Given the description of an element on the screen output the (x, y) to click on. 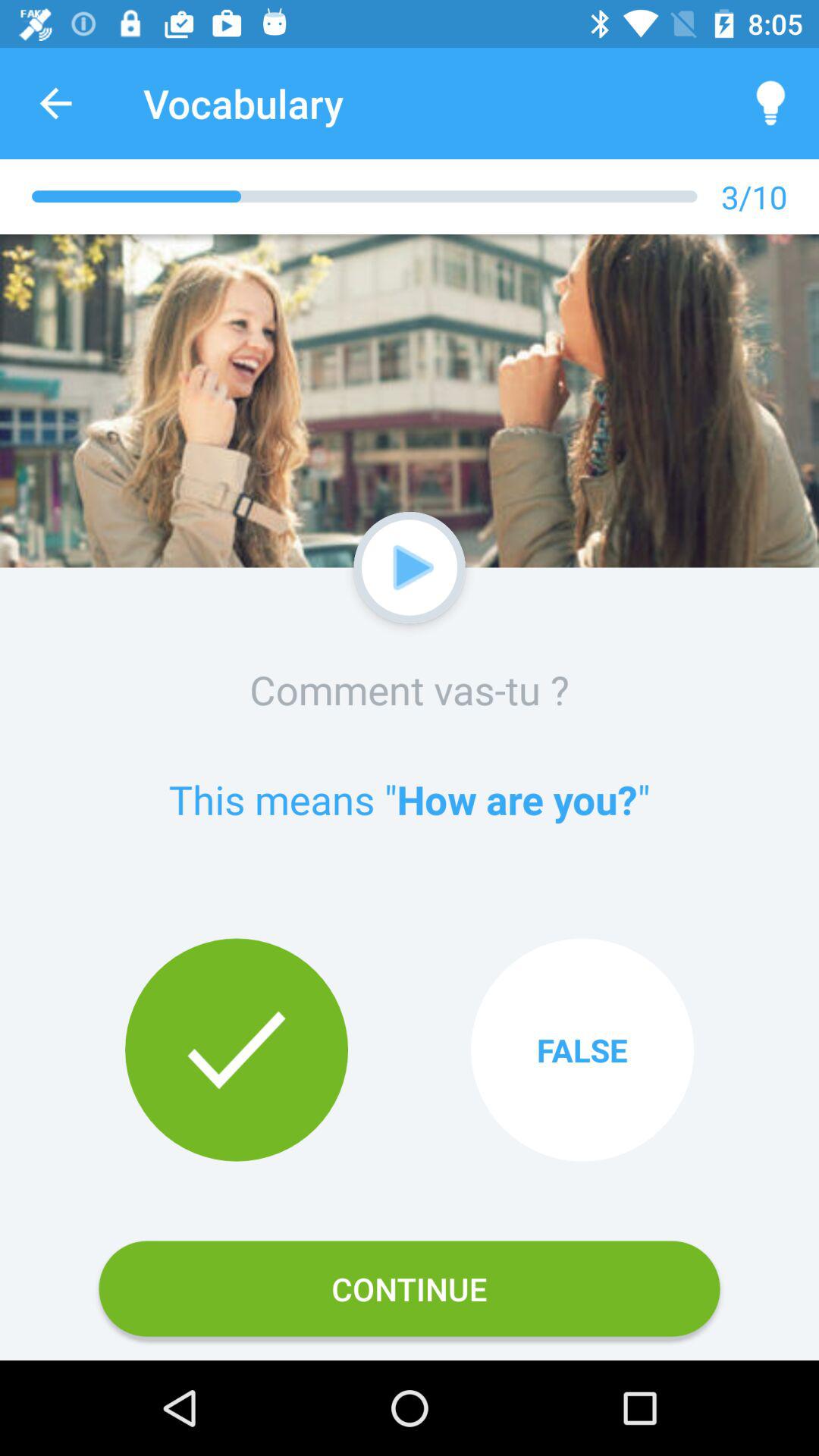
choose continue icon (409, 1288)
